Given the description of an element on the screen output the (x, y) to click on. 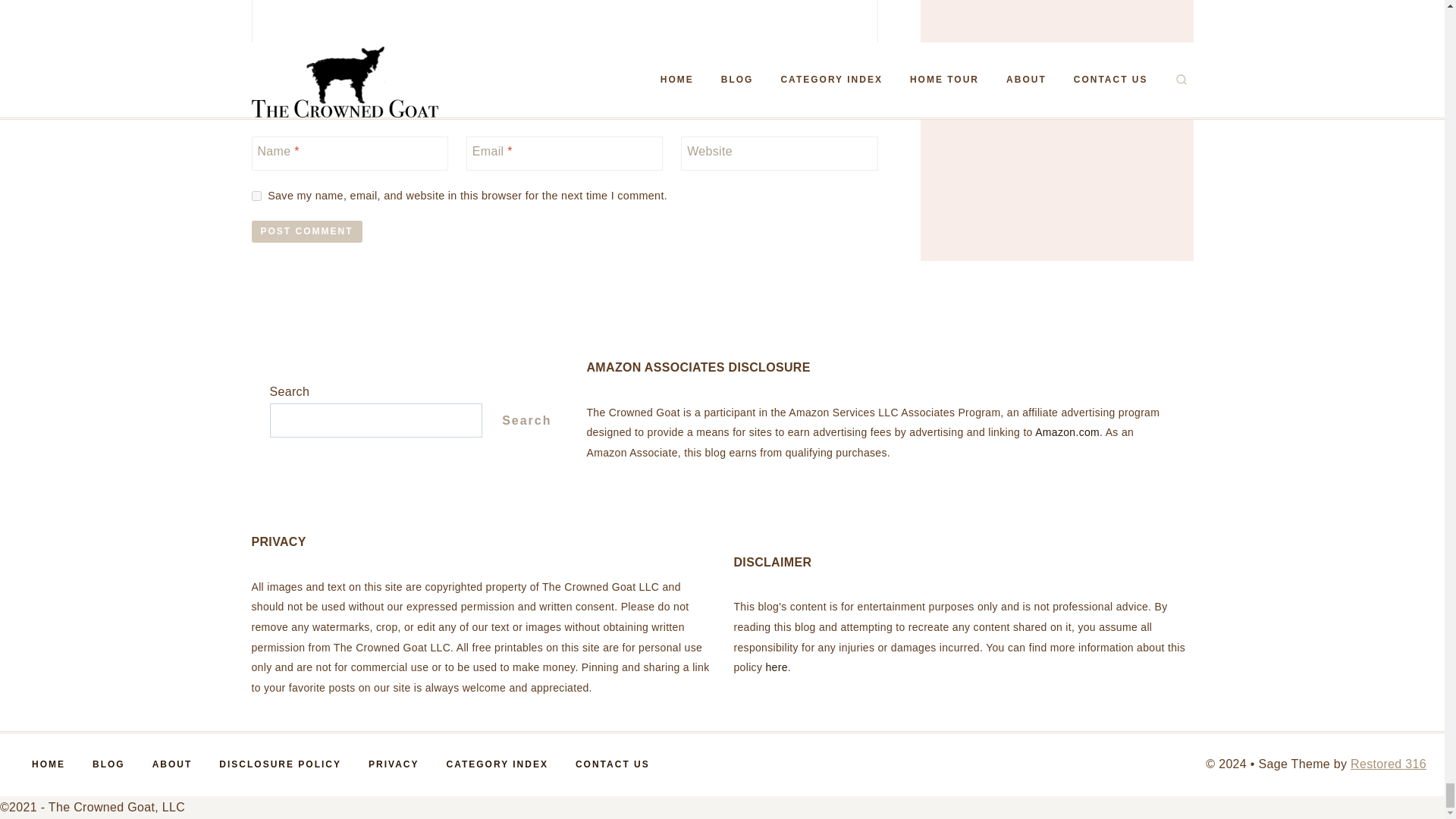
Post Comment (306, 231)
yes (256, 195)
